Given the description of an element on the screen output the (x, y) to click on. 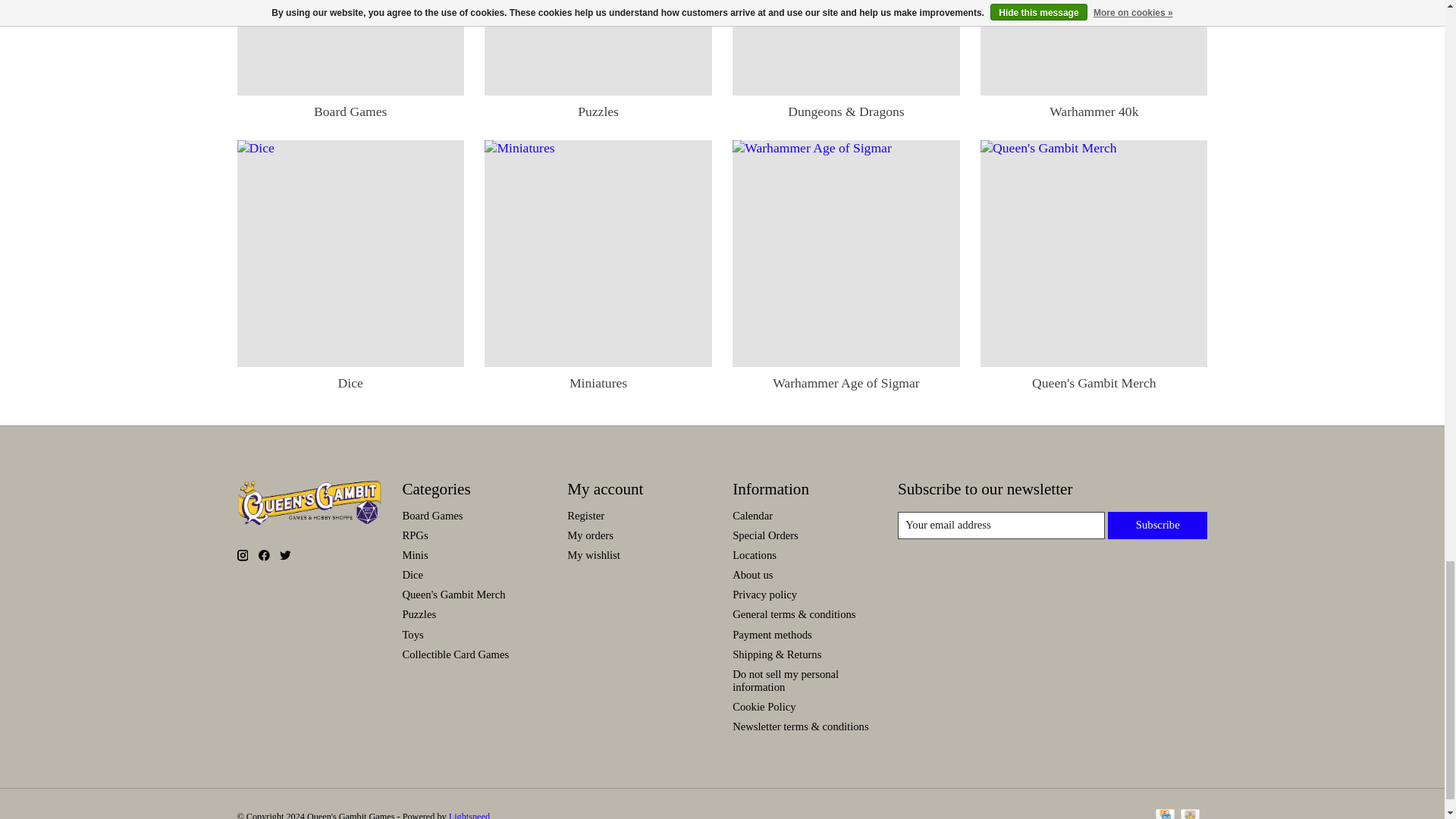
Dice (350, 253)
Warhammer 40k (1093, 47)
Queen's Gambit Merch (1093, 253)
My wishlist (593, 554)
My orders (589, 535)
Puzzles (597, 47)
Warhammer  Age of Sigmar (845, 253)
Miniatures (597, 253)
Register (585, 515)
Calendar (752, 515)
Board Games (350, 47)
